Given the description of an element on the screen output the (x, y) to click on. 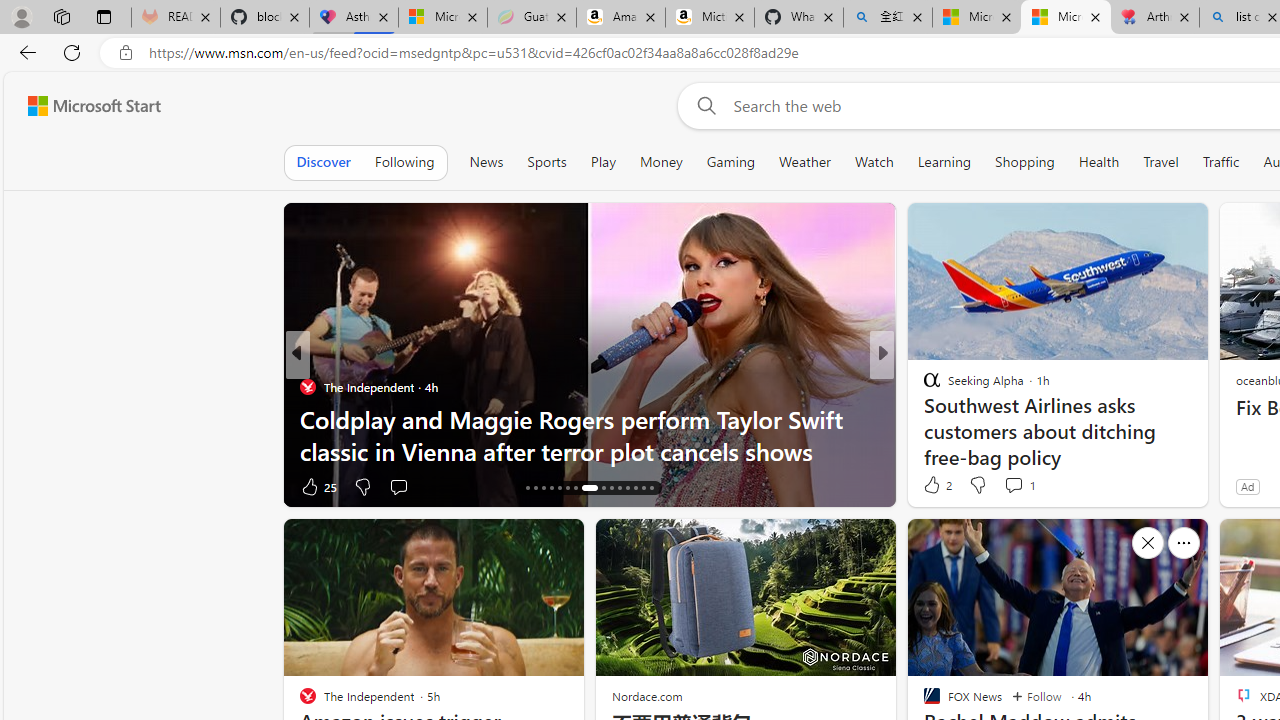
AutomationID: tab-16 (527, 487)
View comments 9 Comment (1014, 485)
Arthritis: Ask Health Professionals (1155, 17)
AutomationID: tab-29 (642, 487)
Travel (1160, 162)
2 Like (936, 484)
51 Like (934, 486)
AutomationID: tab-21 (567, 487)
AutomationID: tab-24 (599, 487)
View comments 1 Comment (1019, 484)
Gaming (730, 161)
Scripps News (923, 386)
